Given the description of an element on the screen output the (x, y) to click on. 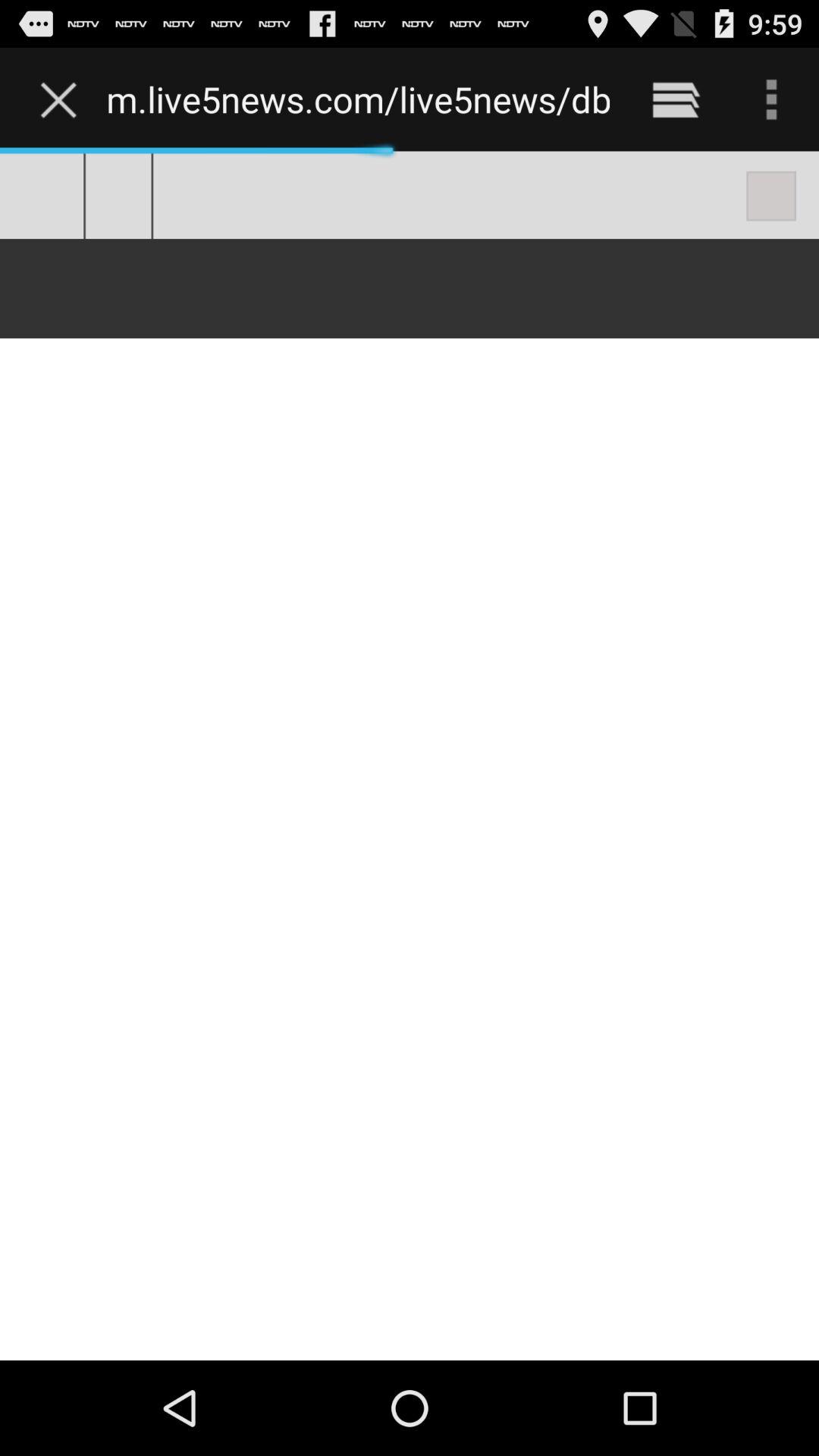
open the icon to the right of m live5news com (675, 99)
